Given the description of an element on the screen output the (x, y) to click on. 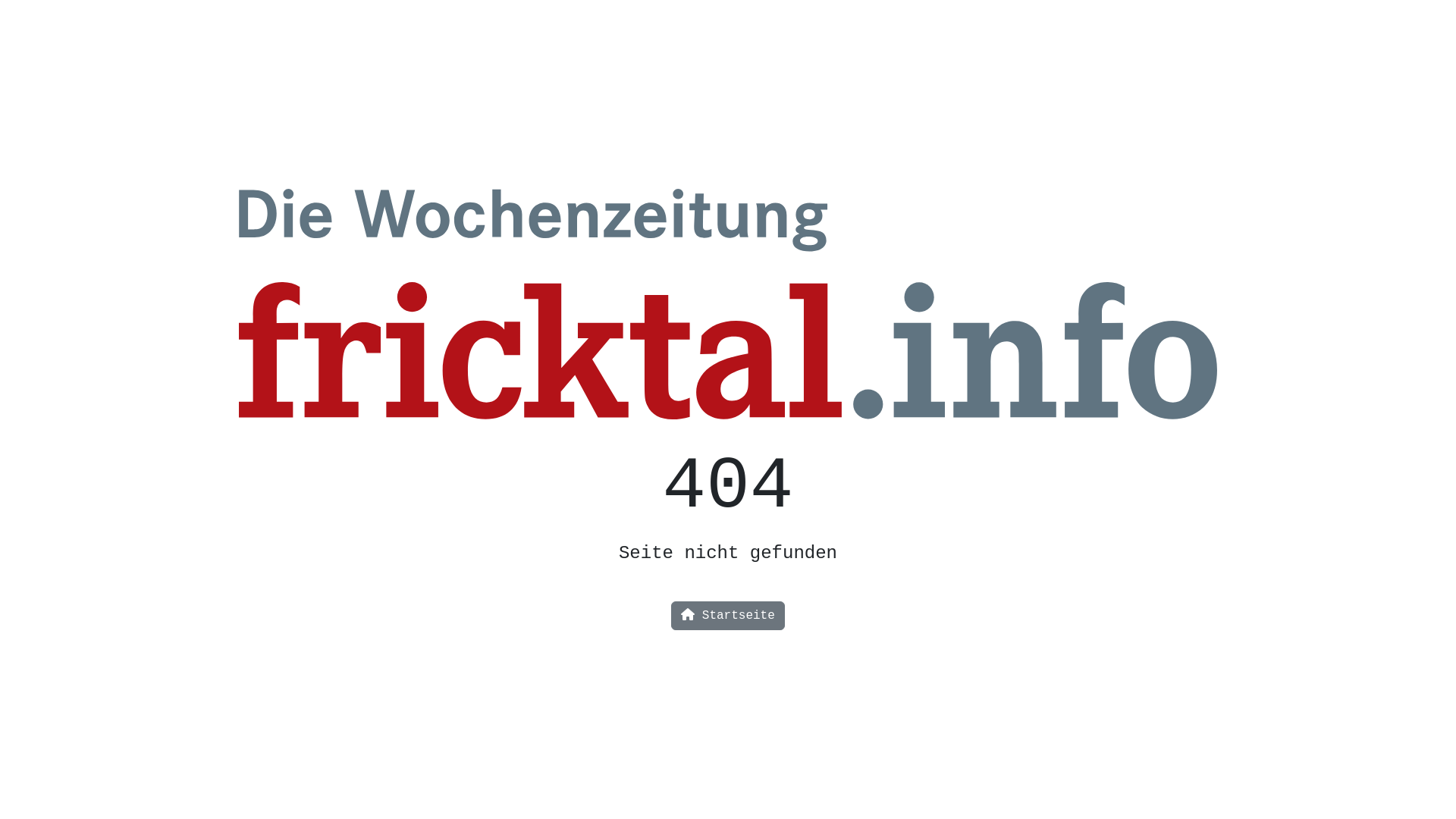
Startseite Element type: text (727, 615)
